Given the description of an element on the screen output the (x, y) to click on. 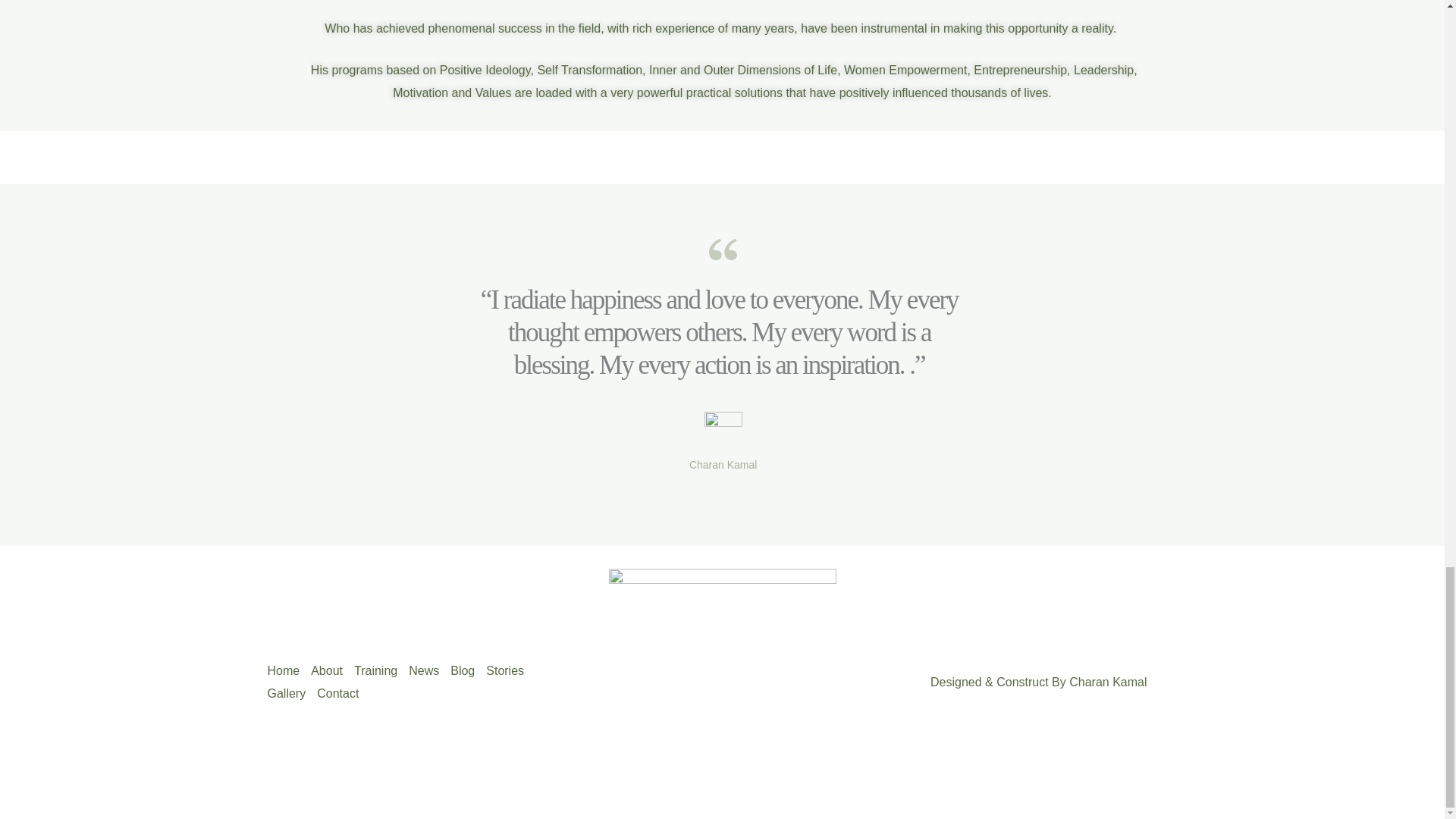
About (332, 671)
Home (288, 671)
Blog (467, 671)
Contact (343, 693)
Gallery (291, 693)
Stories (510, 671)
Training (381, 671)
News (429, 671)
